Given the description of an element on the screen output the (x, y) to click on. 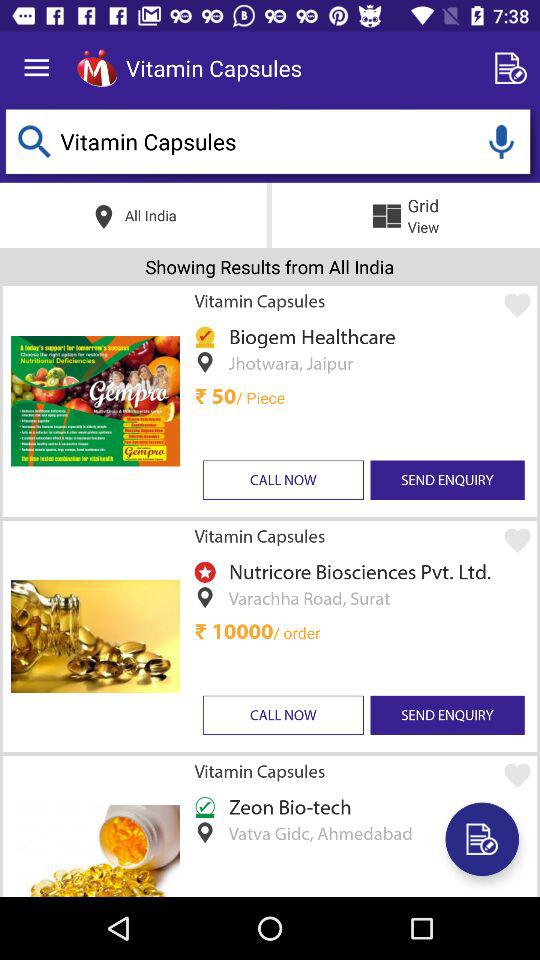
turn off icon next to the vitamin capsules icon (96, 67)
